Given the description of an element on the screen output the (x, y) to click on. 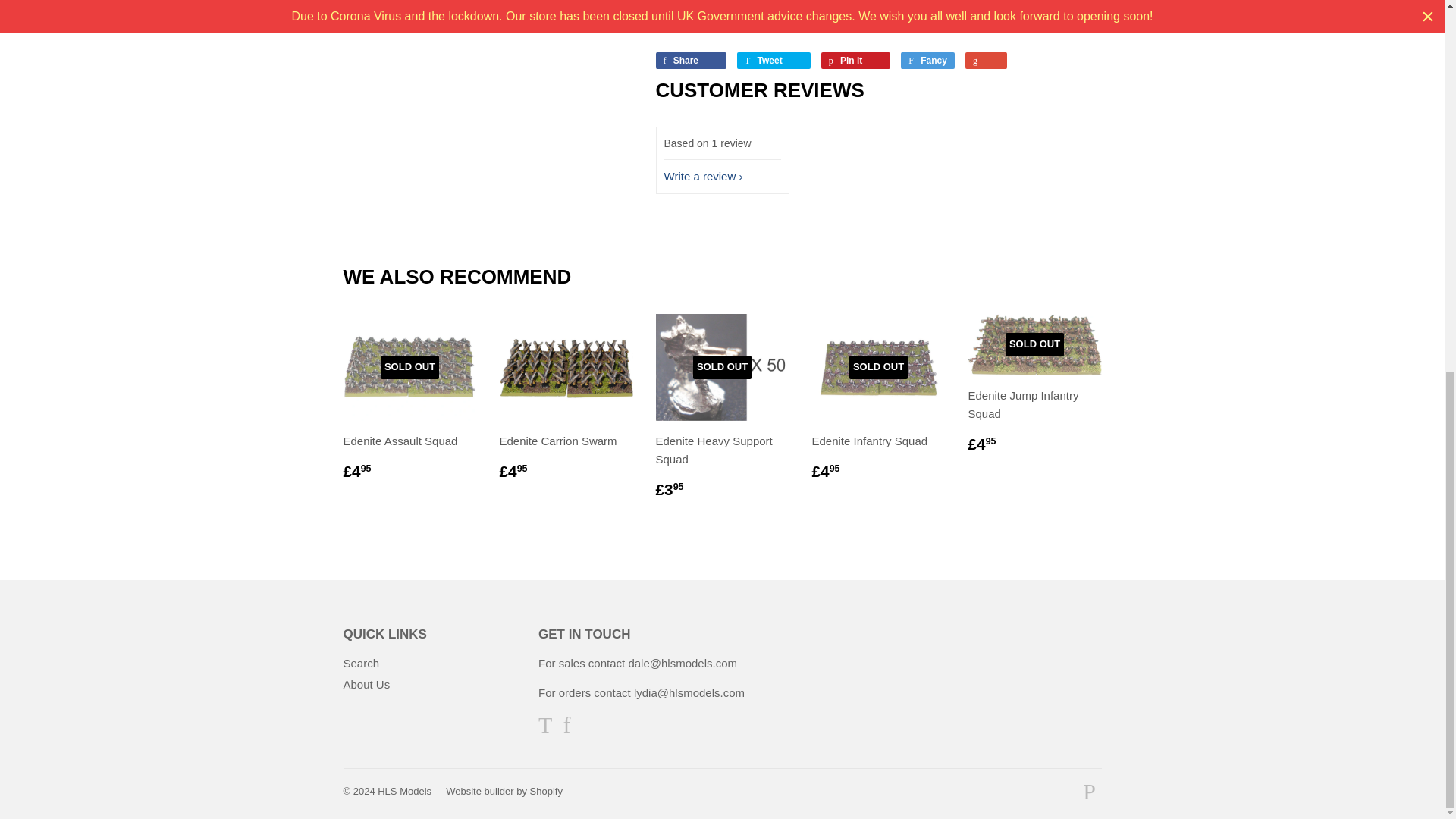
Tweet (773, 60)
Share (690, 60)
HLS Models on Twitter (544, 727)
Pin it (855, 60)
Fancy (928, 60)
